Given the description of an element on the screen output the (x, y) to click on. 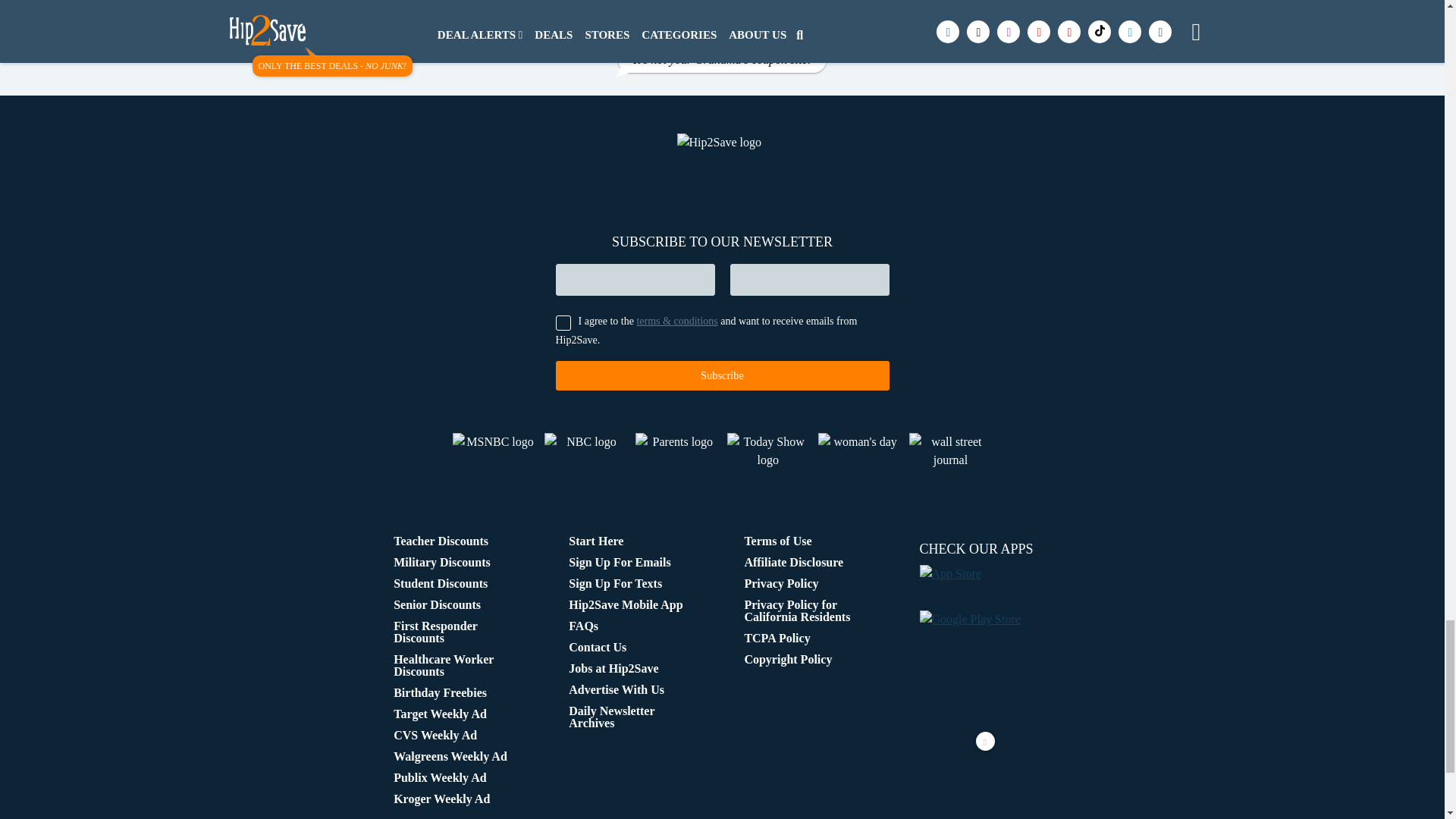
Subscribe (721, 375)
